Given the description of an element on the screen output the (x, y) to click on. 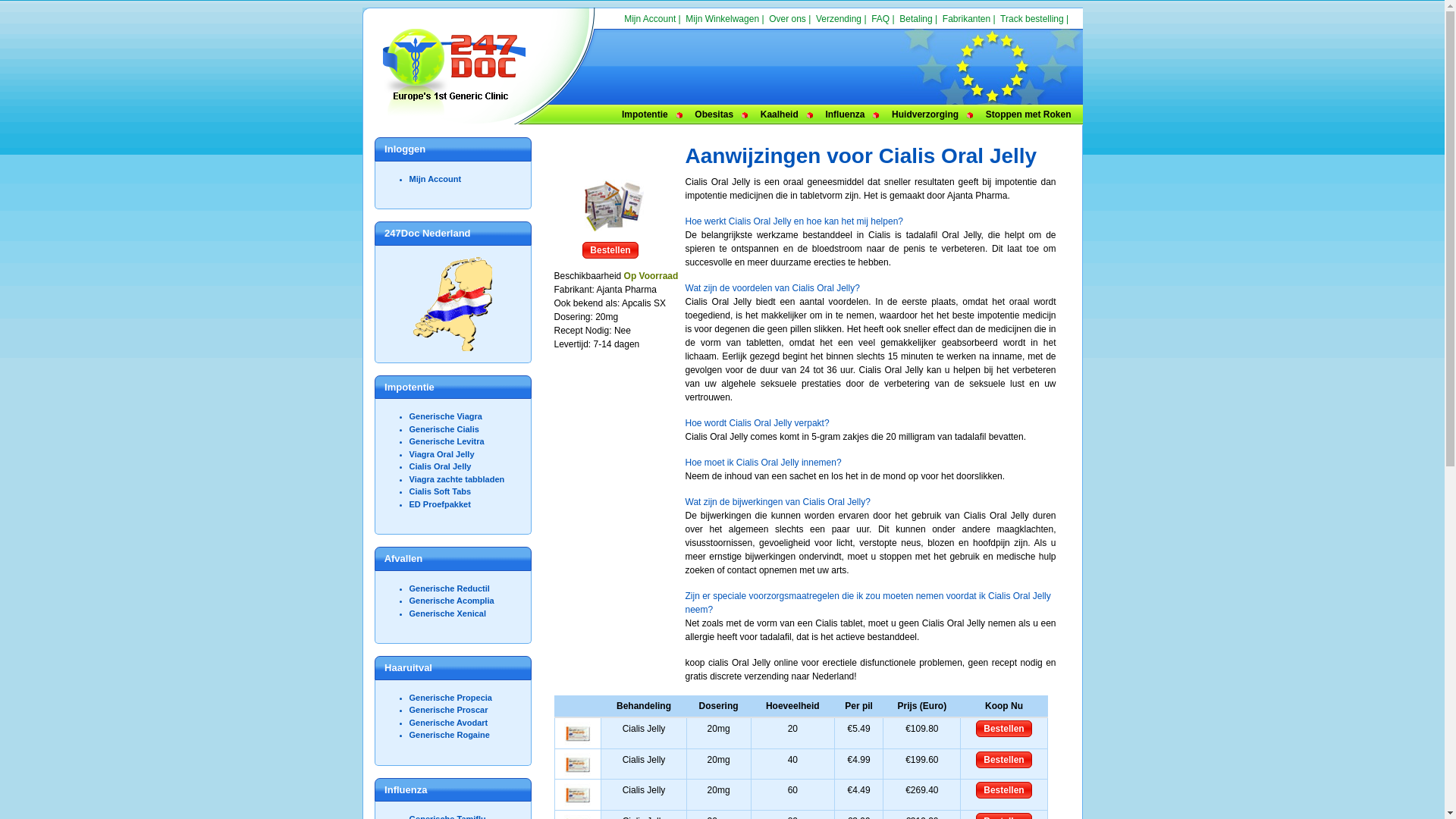
Contact Element type: text (1054, 32)
Generische Rogaine Element type: text (449, 734)
Generische Propecia Element type: text (450, 697)
Track bestelling Element type: text (1031, 18)
Viagra zachte tabbladen Element type: text (457, 478)
Generische Proscar Element type: text (448, 709)
Mijn Account Element type: text (435, 178)
Influenza Element type: text (844, 114)
Mijn Winkelwagen Element type: text (722, 18)
ED Proefpakket Element type: text (439, 503)
Betaling Element type: text (915, 18)
Bestellen Element type: text (1003, 789)
Generische Xenical Element type: text (447, 612)
Generische Levitra Element type: text (446, 440)
Generische Viagra Element type: text (445, 415)
Generische Reductil Element type: text (449, 588)
Bestellen Element type: text (1003, 728)
Huidverzorging Element type: text (924, 114)
Fabrikanten Element type: text (966, 18)
Over ons Element type: text (787, 18)
Bestellen Element type: text (1003, 759)
Obesitas Element type: text (713, 114)
Generische Acomplia Element type: text (451, 600)
Impotentie Element type: text (644, 114)
Generische Cialis Element type: text (444, 428)
FAQ Element type: text (880, 18)
Viagra Oral Jelly Element type: text (441, 453)
Kaalheid Element type: text (779, 114)
Mijn Account Element type: text (649, 18)
Generische Avodart Element type: text (448, 721)
Cialis Oral Jelly Element type: text (440, 465)
Bestellen Element type: text (609, 249)
Verzending Element type: text (838, 18)
Cialis Soft Tabs Element type: text (440, 490)
Stoppen met Roken Element type: text (1028, 114)
